Given the description of an element on the screen output the (x, y) to click on. 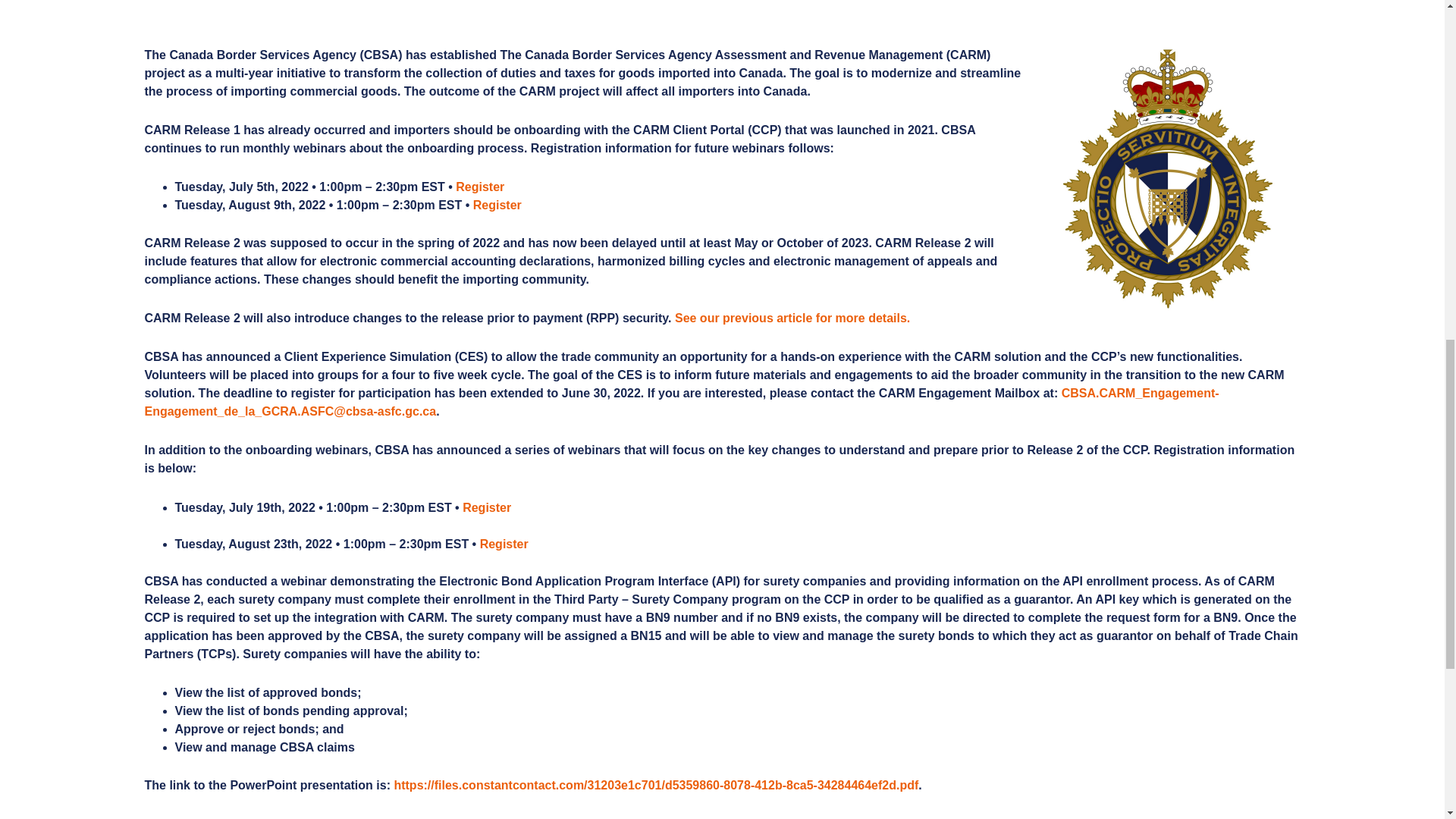
Register (504, 543)
See our previous article for more details. (792, 318)
Register (497, 205)
Register (631, 516)
Register  (480, 186)
